Given the description of an element on the screen output the (x, y) to click on. 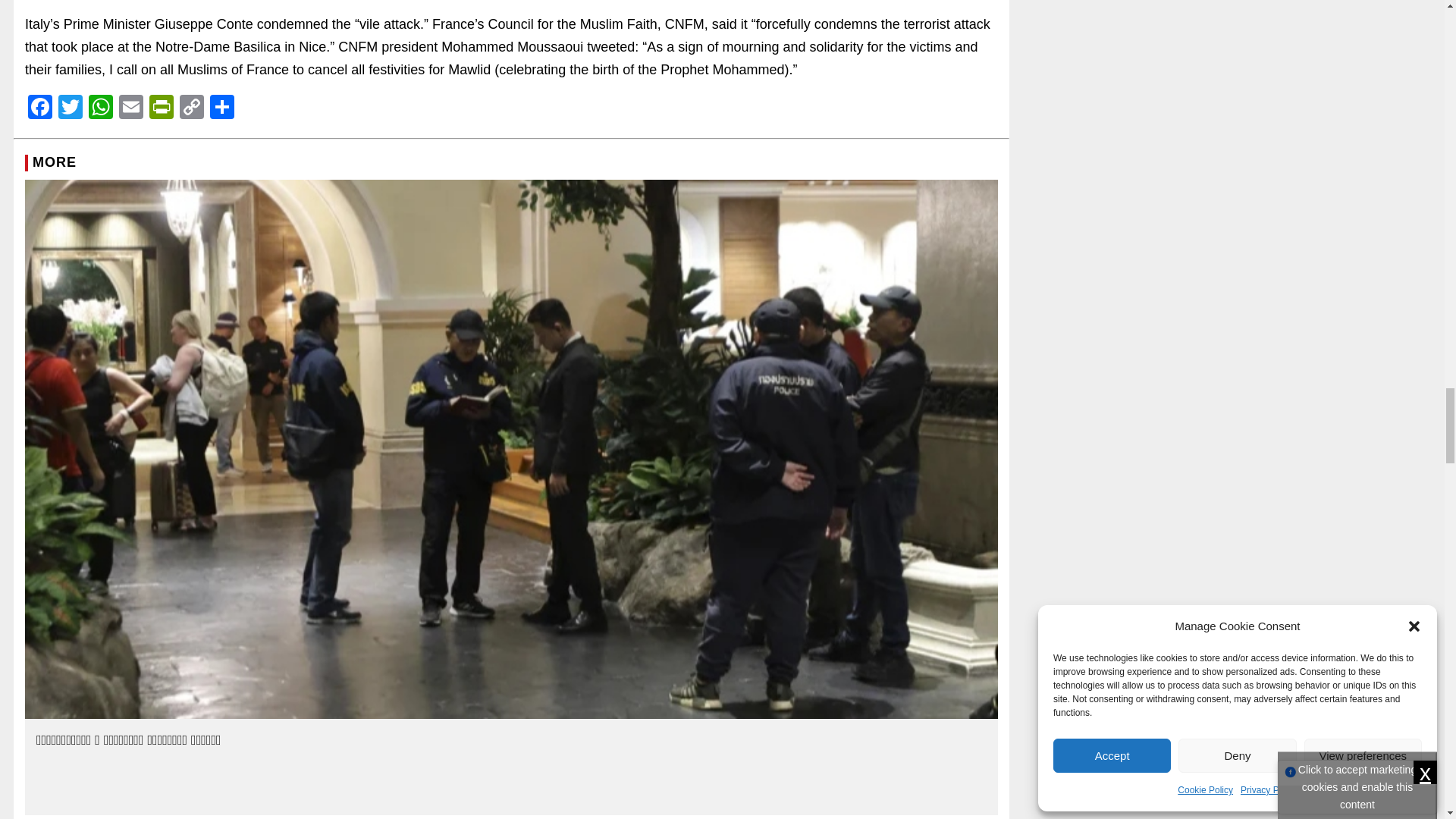
PrintFriendly (161, 108)
Email (131, 108)
WhatsApp (100, 108)
Twitter (70, 108)
Facebook (39, 108)
